Given the description of an element on the screen output the (x, y) to click on. 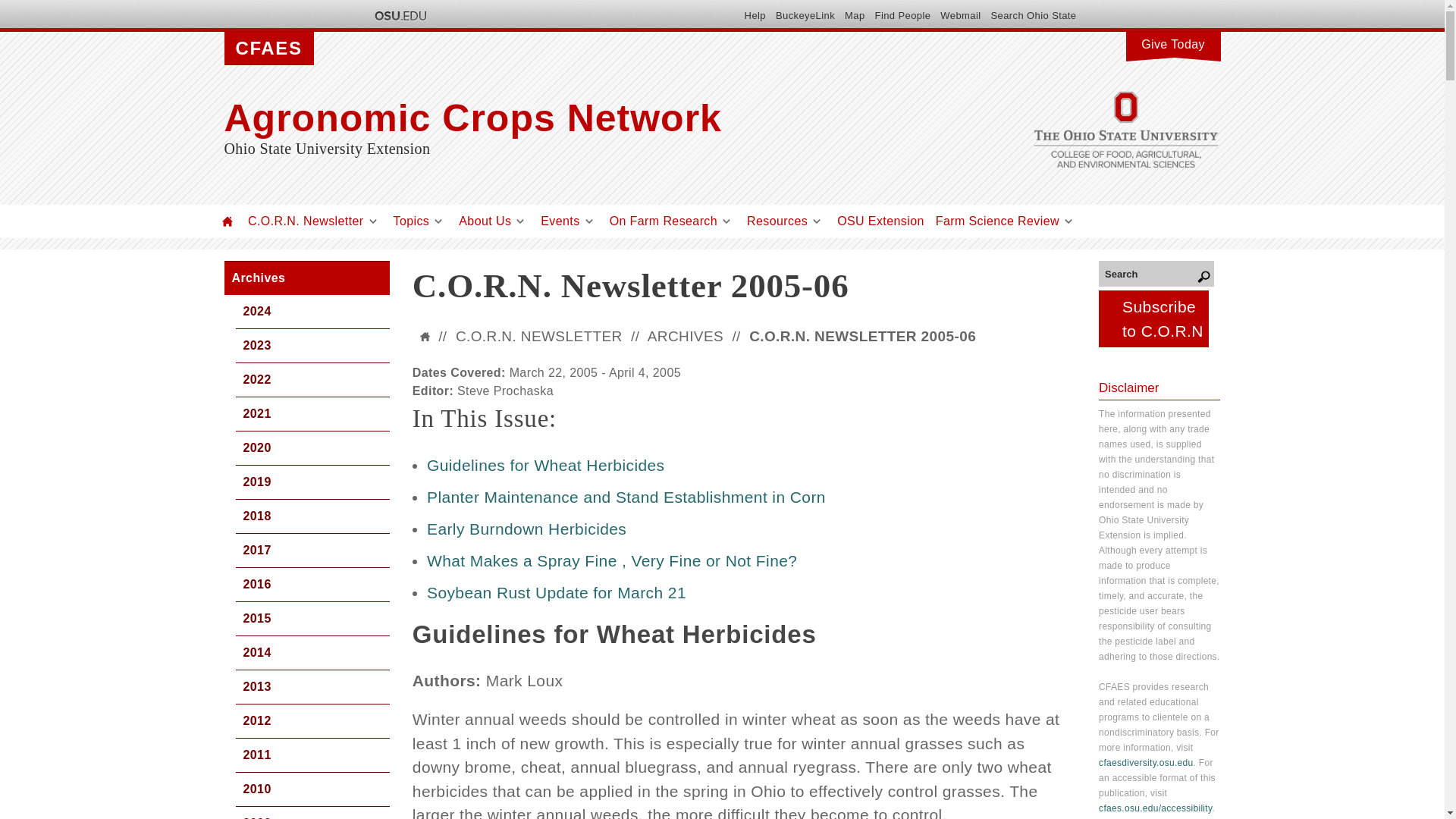
Enter the terms you wish to search for. (1155, 273)
Search Ohio State (1032, 15)
C.O.R.N. Newsletter (305, 221)
Give Today (1172, 42)
Webmail (959, 15)
Home (226, 221)
BuckeyeLink (805, 15)
Home (572, 118)
Agronomic Crops Network (572, 118)
Skip to main content (686, 1)
CFAES (269, 48)
Search (1155, 273)
Topics (411, 221)
The Ohio State University (399, 15)
Map (854, 15)
